Given the description of an element on the screen output the (x, y) to click on. 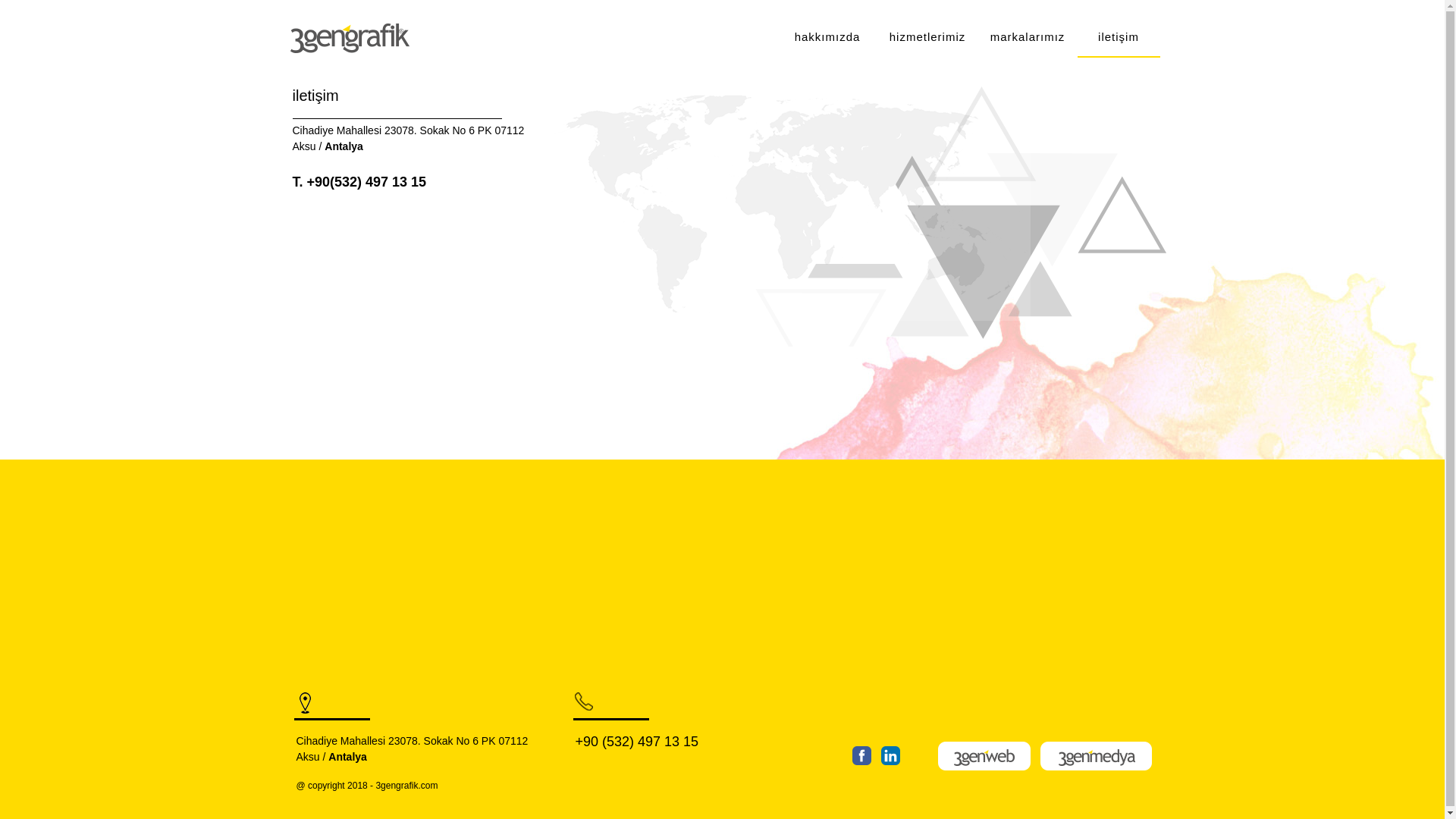
hizmetlerimiz Element type: text (926, 38)
